Given the description of an element on the screen output the (x, y) to click on. 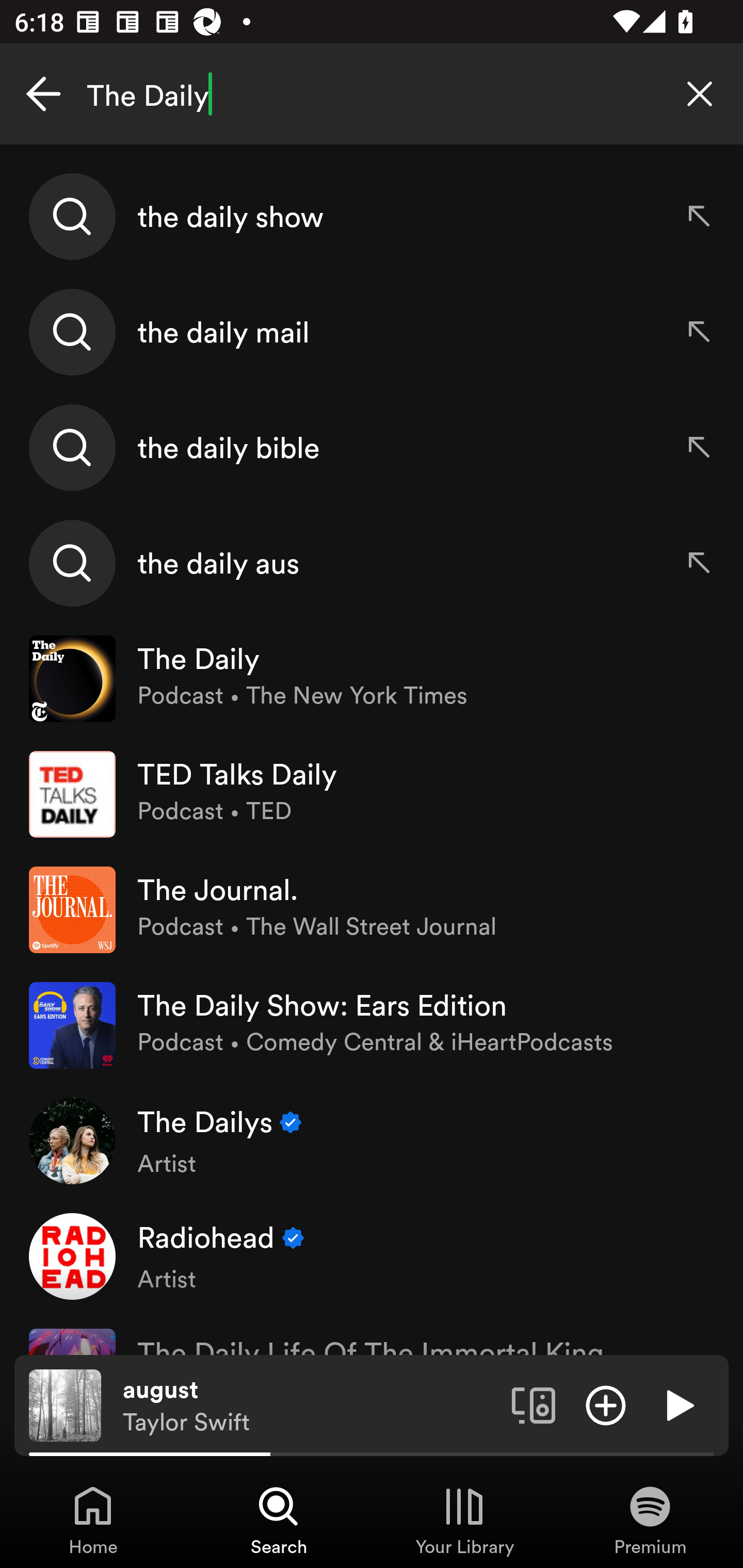
The Daily (371, 93)
Cancel (43, 93)
Clear search query (699, 93)
the daily show (371, 216)
the daily mail (371, 332)
the daily bible (371, 447)
the daily aus (371, 562)
The Daily Podcast • The New York Times (371, 678)
TED Talks Daily Podcast • TED (371, 793)
The Journal. Podcast • The Wall Street Journal (371, 909)
The Dailys Verified Artist (371, 1140)
Radiohead Verified Artist (371, 1255)
august Taylor Swift (309, 1405)
The cover art of the currently playing track (64, 1404)
Connect to a device. Opens the devices menu (533, 1404)
Add item (605, 1404)
Play (677, 1404)
Home, Tab 1 of 4 Home Home (92, 1519)
Search, Tab 2 of 4 Search Search (278, 1519)
Your Library, Tab 3 of 4 Your Library Your Library (464, 1519)
Premium, Tab 4 of 4 Premium Premium (650, 1519)
